Given the description of an element on the screen output the (x, y) to click on. 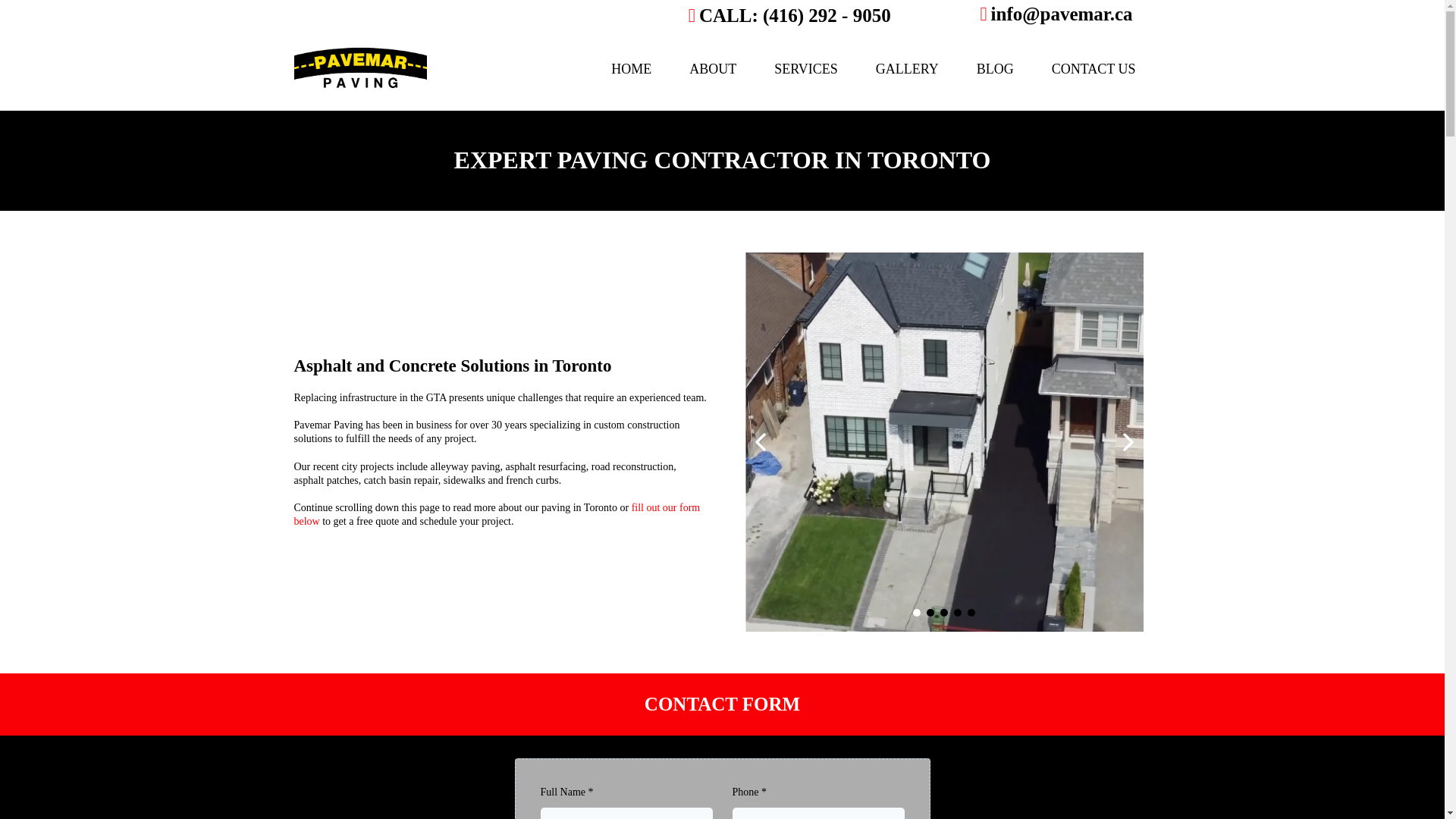
CONTACT US (1093, 69)
GALLERY (907, 69)
fill out our form below (497, 514)
SERVICES (806, 69)
BLOG (995, 69)
HOME (630, 69)
ABOUT (712, 69)
